Given the description of an element on the screen output the (x, y) to click on. 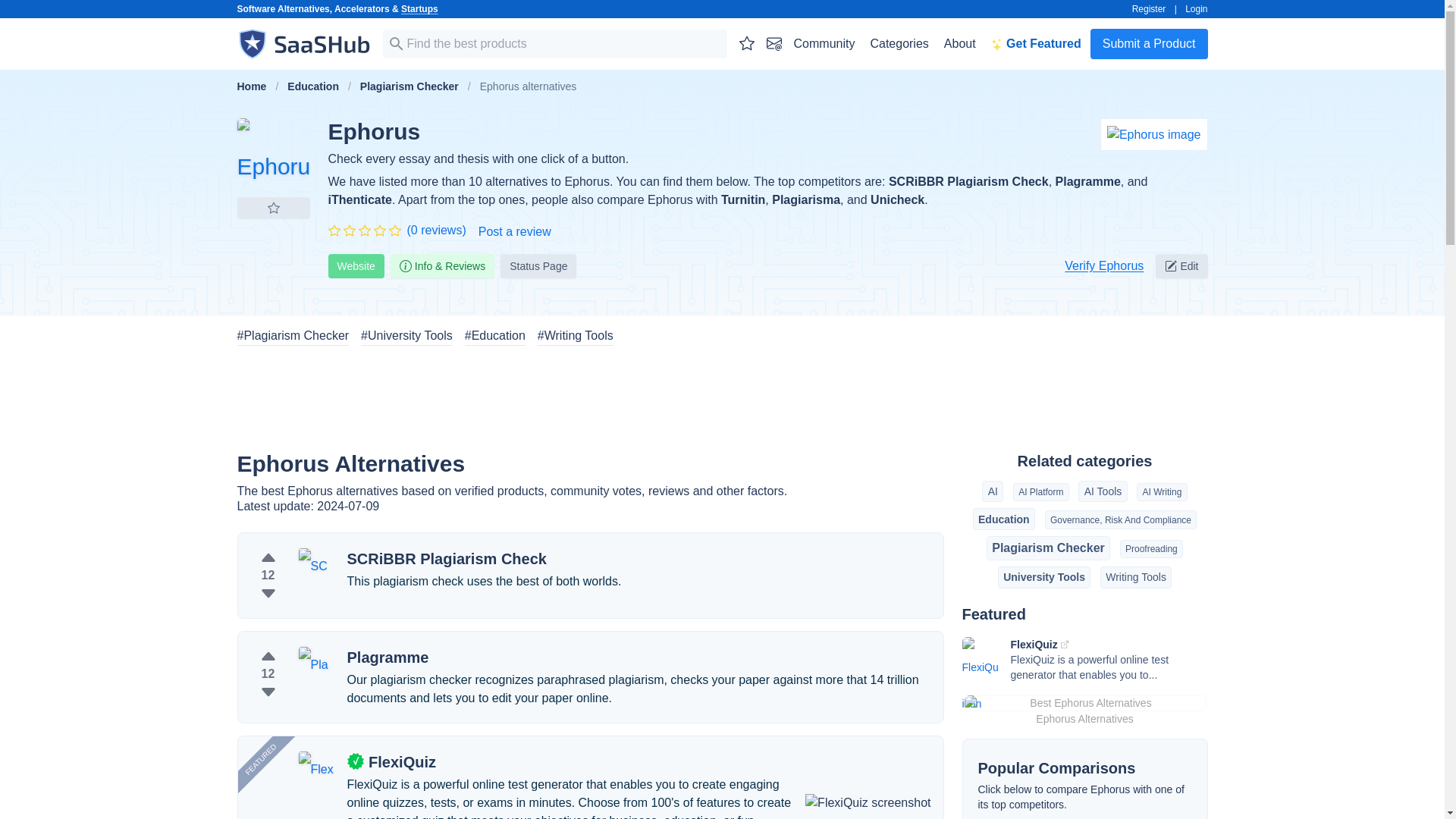
Startups (419, 9)
iThenticate (359, 199)
About (959, 43)
Status Page (538, 265)
The best Writing Tools products (574, 335)
Plagiarisma (805, 199)
Plagramme alternatives (388, 657)
Community (824, 43)
The best Education products (494, 335)
SCRiBBR Plagiarism Check (968, 181)
Landing page (1153, 135)
Categories (898, 43)
Website (355, 265)
Ephorus alternatives (271, 153)
Unicheck (897, 199)
